Given the description of an element on the screen output the (x, y) to click on. 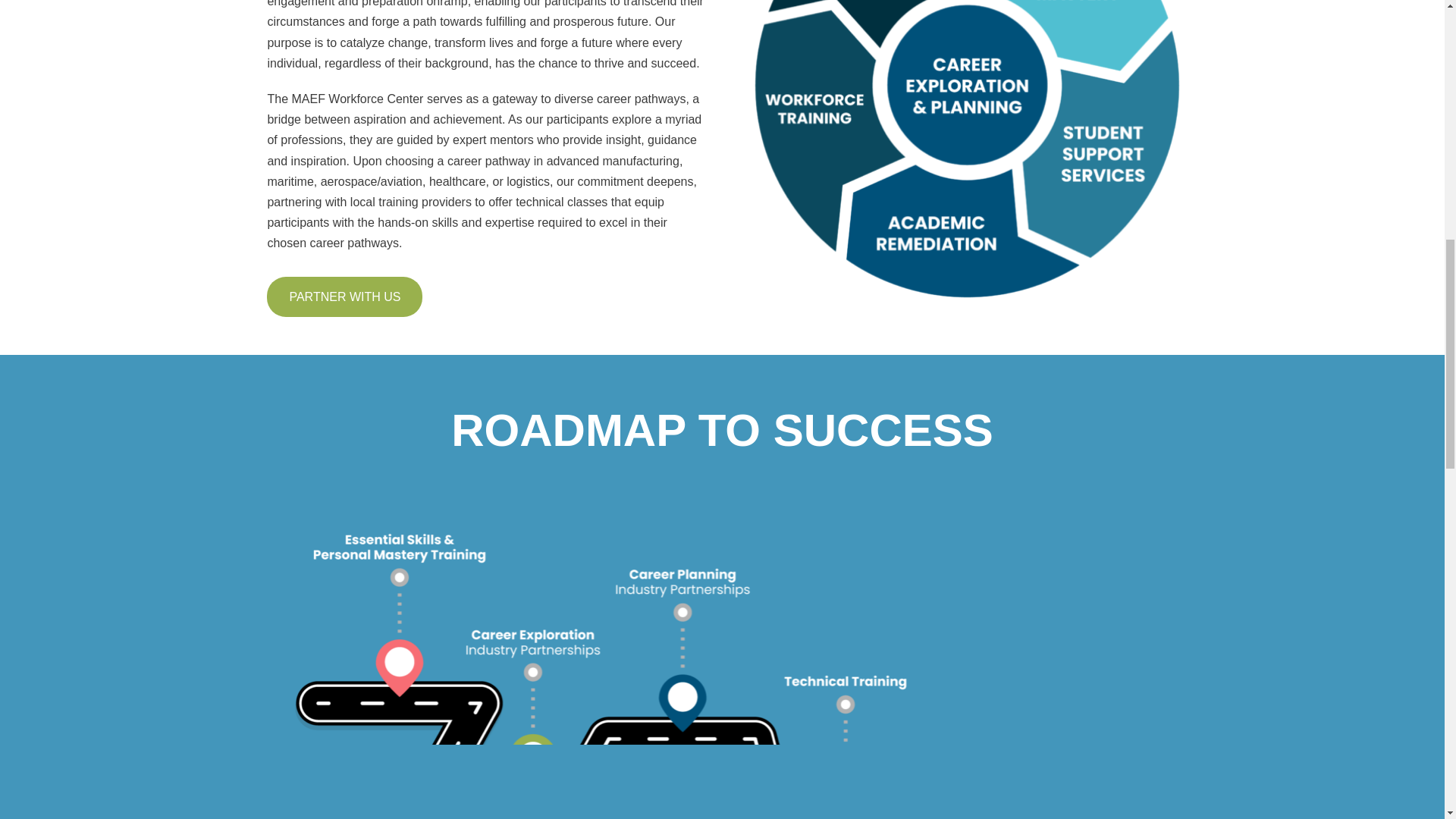
PARTNER WITH US (344, 296)
Vimeo video player 1 (722, 11)
